Given the description of an element on the screen output the (x, y) to click on. 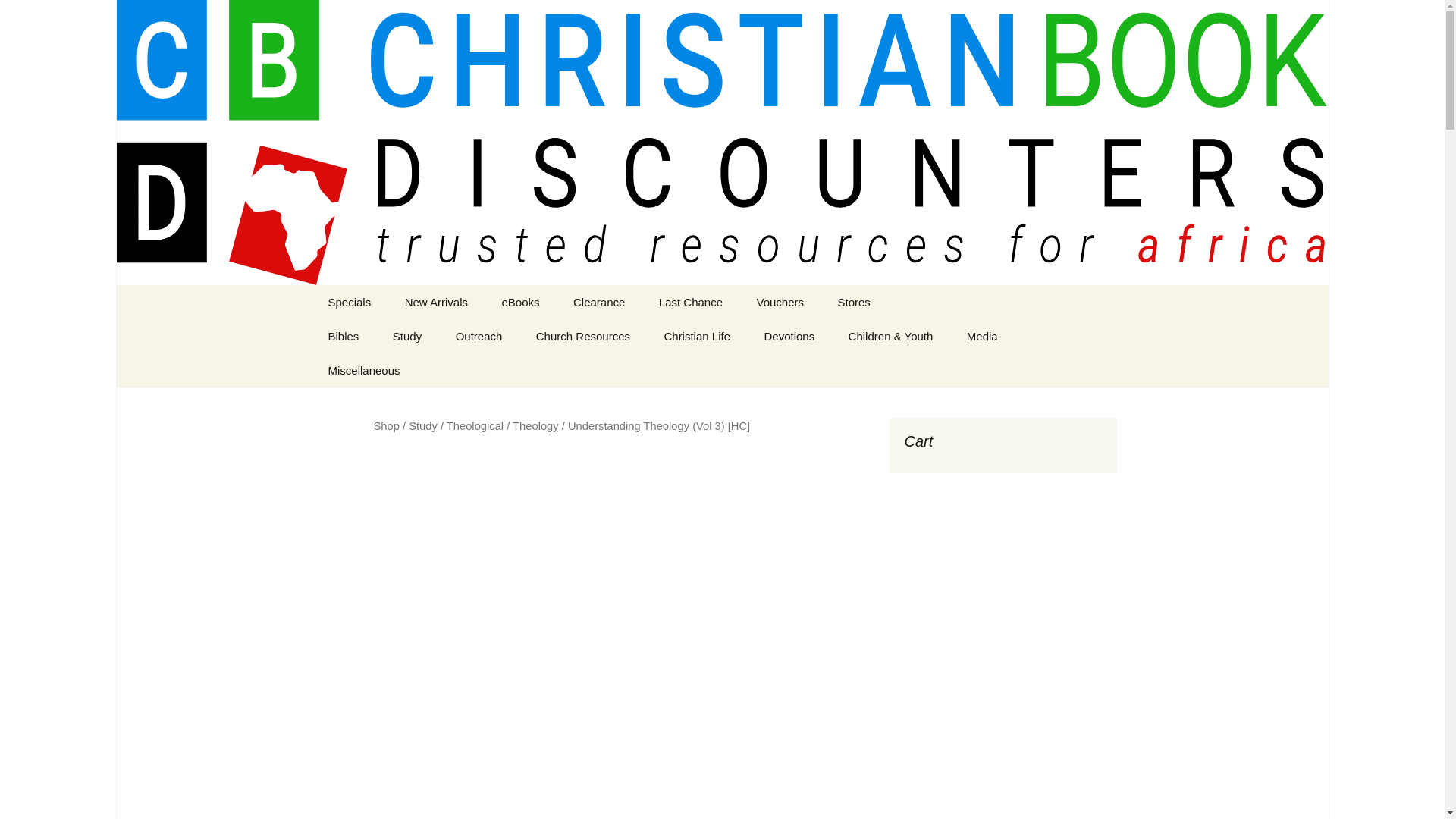
Bibles (388, 369)
Study (406, 335)
eBooks (520, 302)
Clearance (598, 302)
Last Chance (690, 302)
Search (18, 15)
Bibles (343, 335)
New Arrivals (436, 302)
Stores (853, 302)
Vouchers (779, 302)
Specials (349, 302)
